Given the description of an element on the screen output the (x, y) to click on. 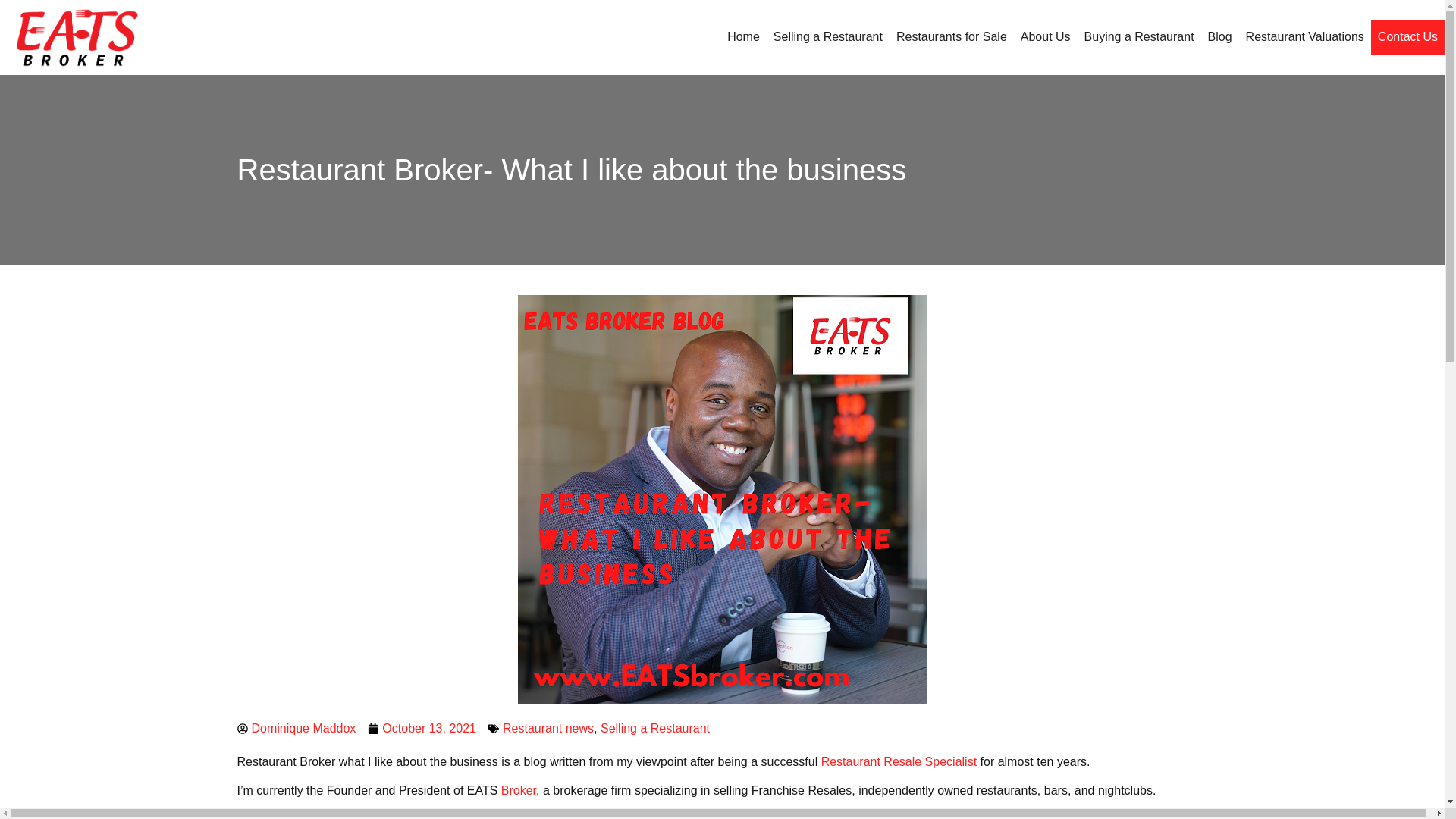
Restaurant Valuations (1305, 36)
Contact Us (1407, 36)
Blog (1220, 36)
Home (743, 36)
Restaurants for Sale (951, 36)
About Us (1045, 36)
Buying a Restaurant (1139, 36)
Selling a Restaurant (828, 36)
